Given the description of an element on the screen output the (x, y) to click on. 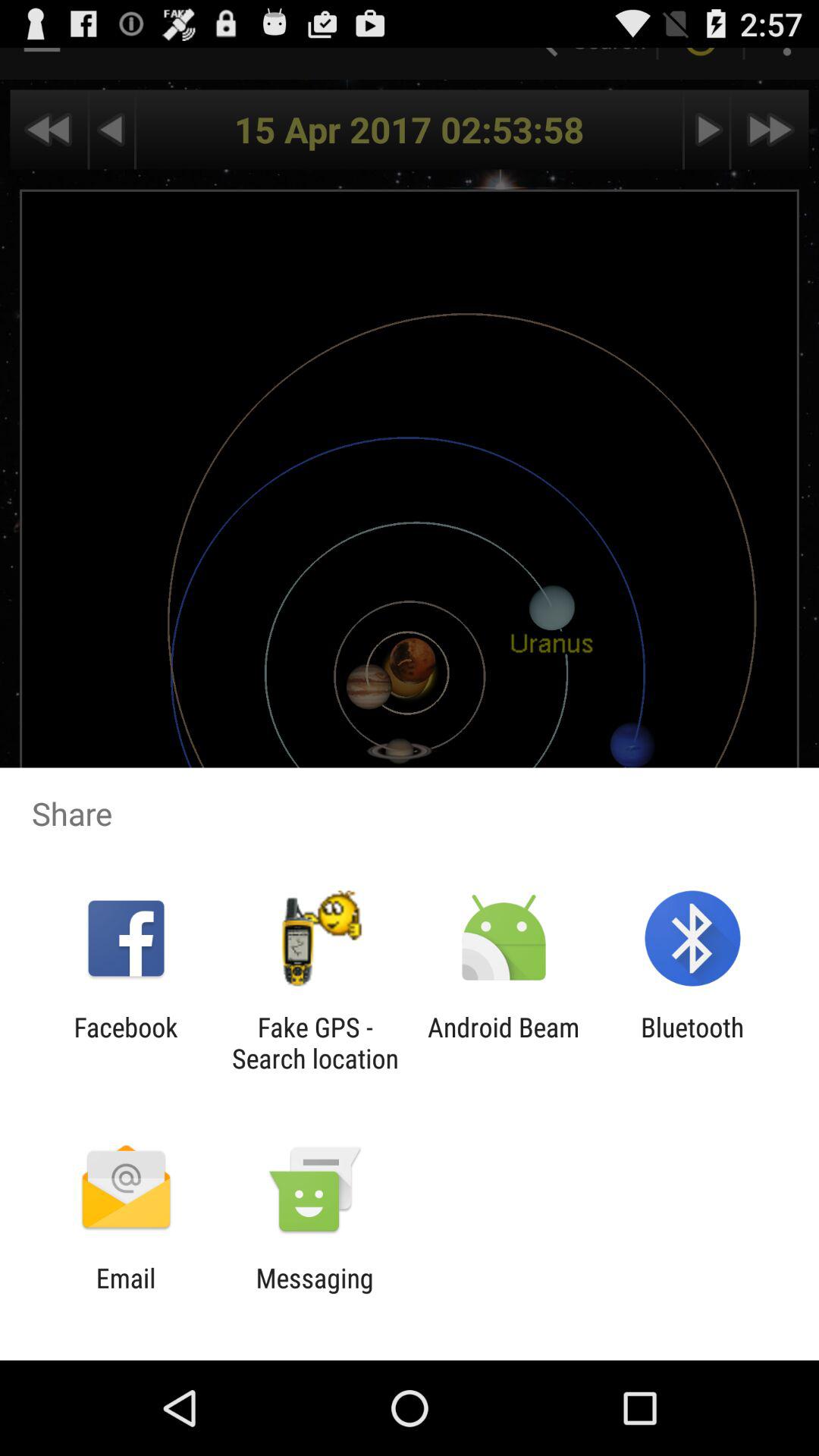
press item next to fake gps search (125, 1042)
